Given the description of an element on the screen output the (x, y) to click on. 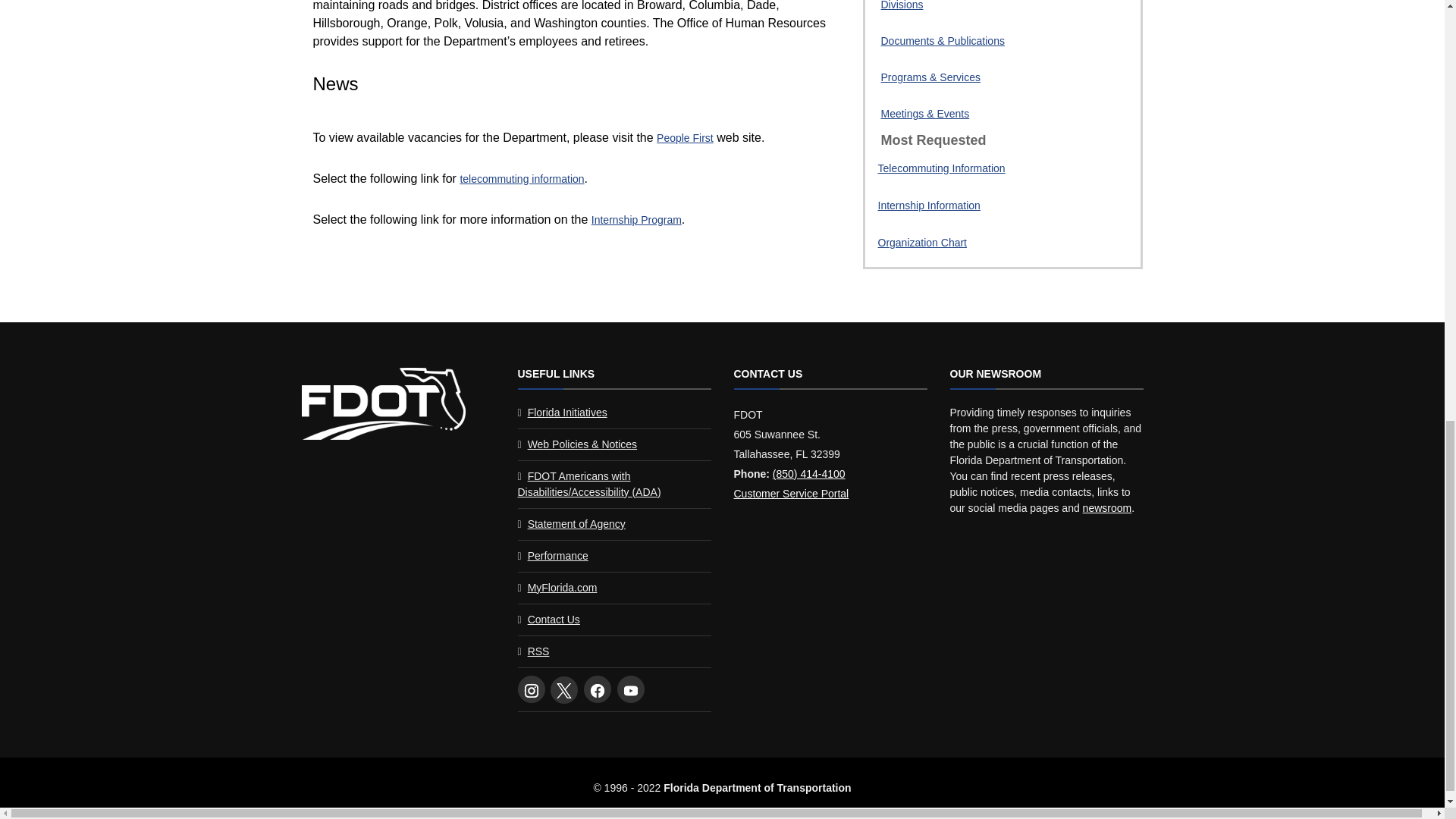
Statement of Agency (576, 523)
Internship Information (953, 210)
Telecommuting Information (953, 172)
People First (684, 137)
telecommuting information (521, 178)
Performance (557, 555)
Organization Chart (953, 247)
Divisions (901, 5)
Internship Program (636, 219)
Florida Initiatives (567, 412)
